Given the description of an element on the screen output the (x, y) to click on. 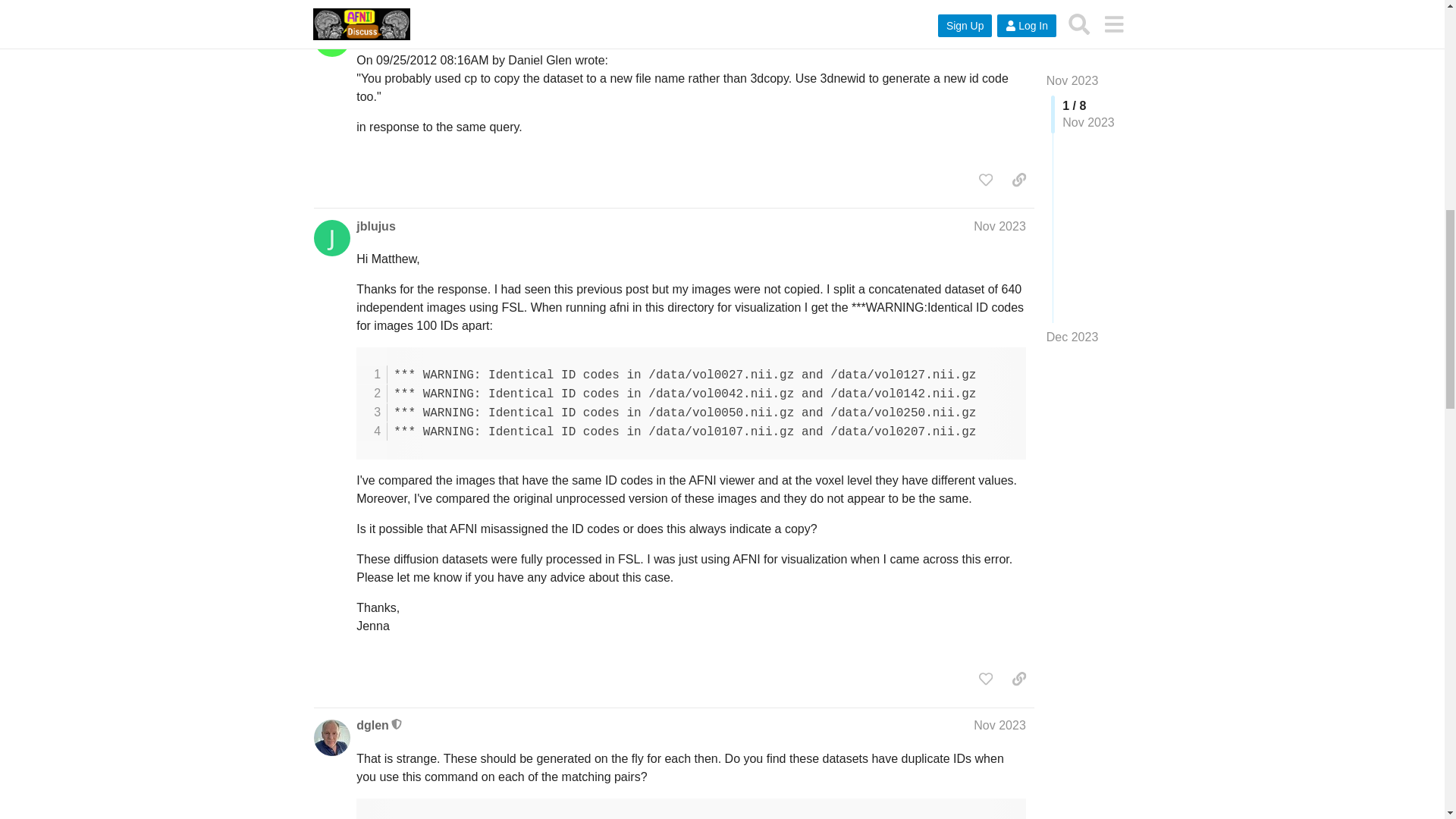
3dinfo -id mydset.nii.gz (691, 808)
3dinfo -id mydset.nii.gz (691, 808)
Post date (1000, 26)
